Given the description of an element on the screen output the (x, y) to click on. 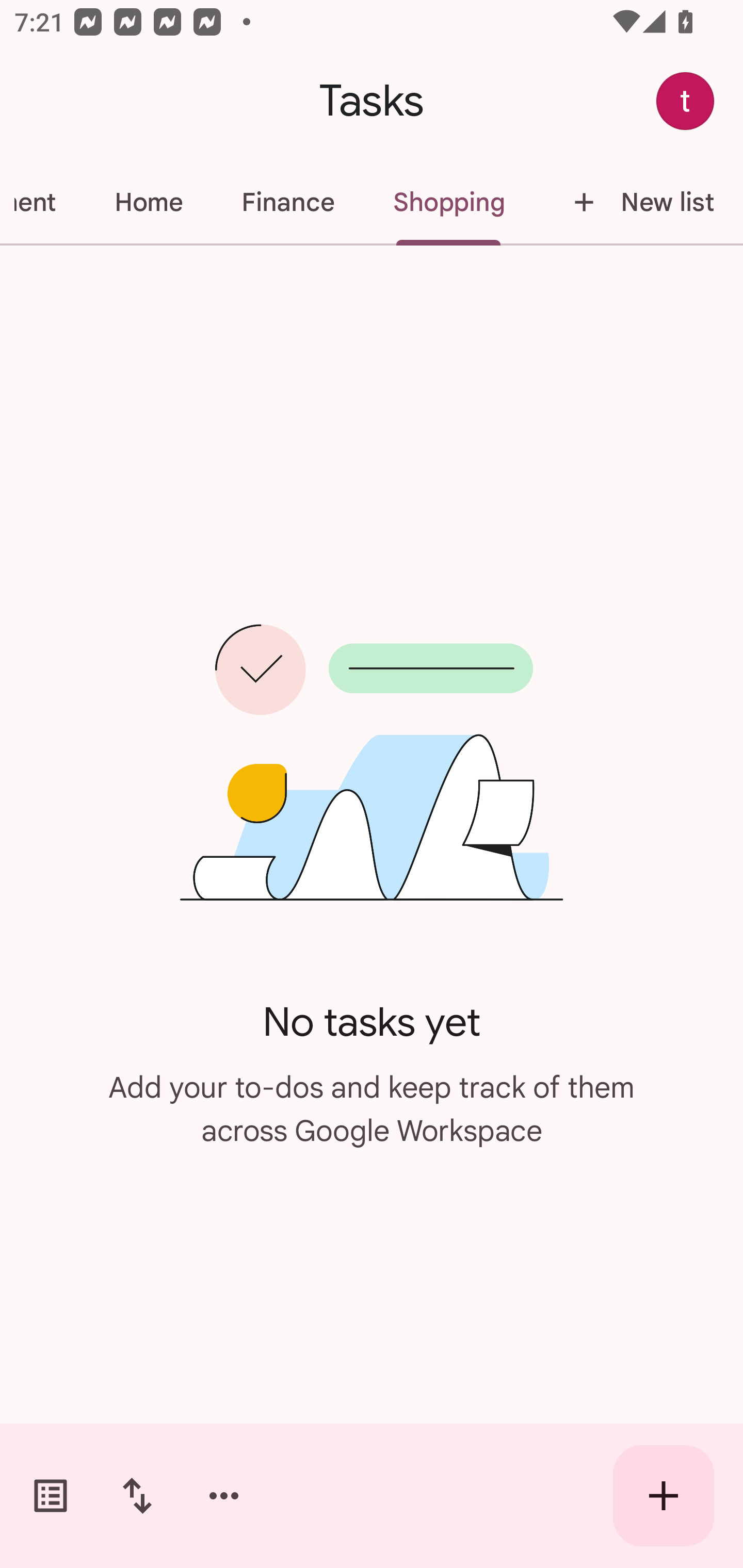
Home (148, 202)
Finance (287, 202)
New list (638, 202)
Switch task lists (50, 1495)
Create new task (663, 1495)
Change sort order (136, 1495)
More options (223, 1495)
